Given the description of an element on the screen output the (x, y) to click on. 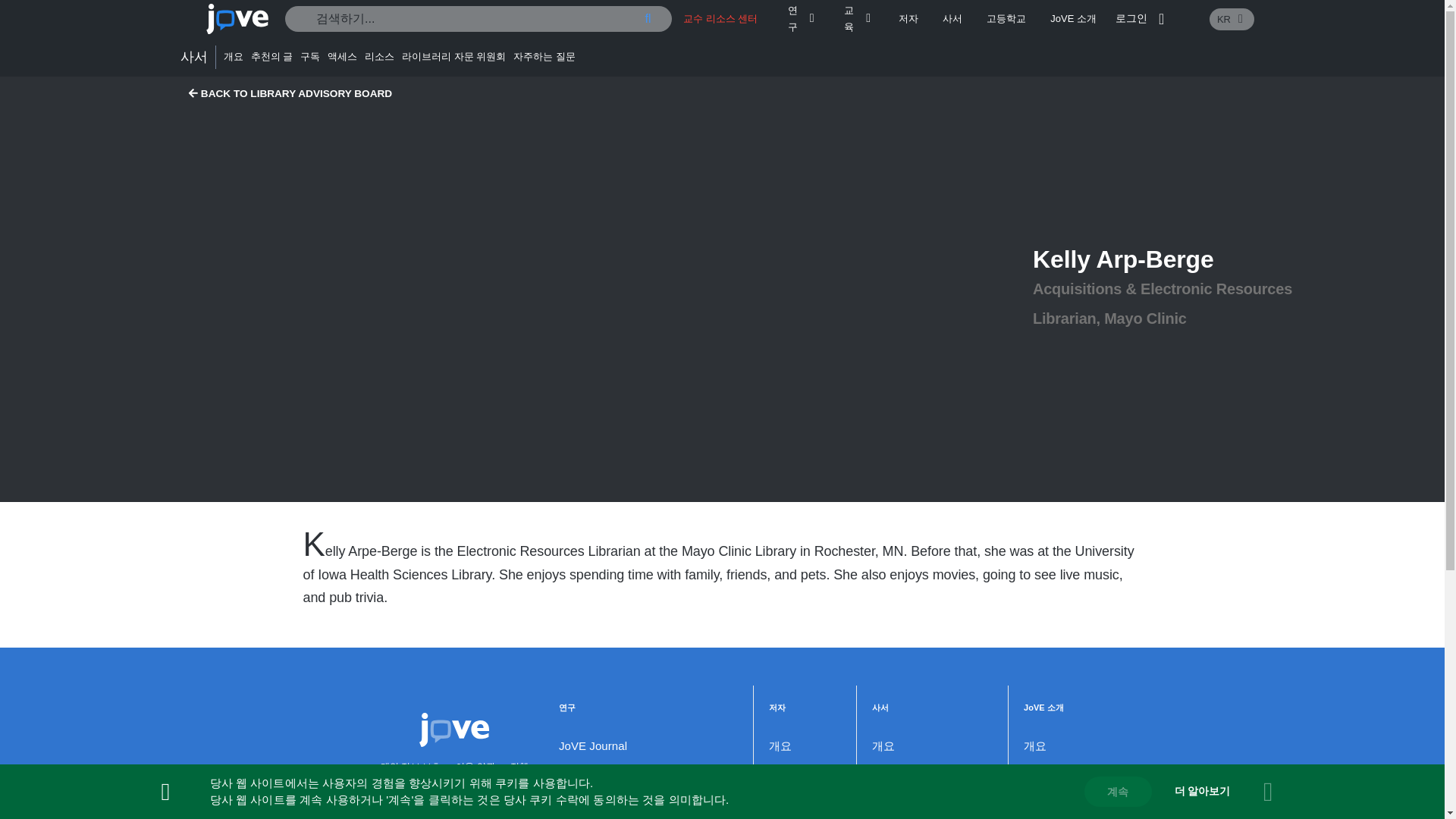
KR (1231, 18)
